Given the description of an element on the screen output the (x, y) to click on. 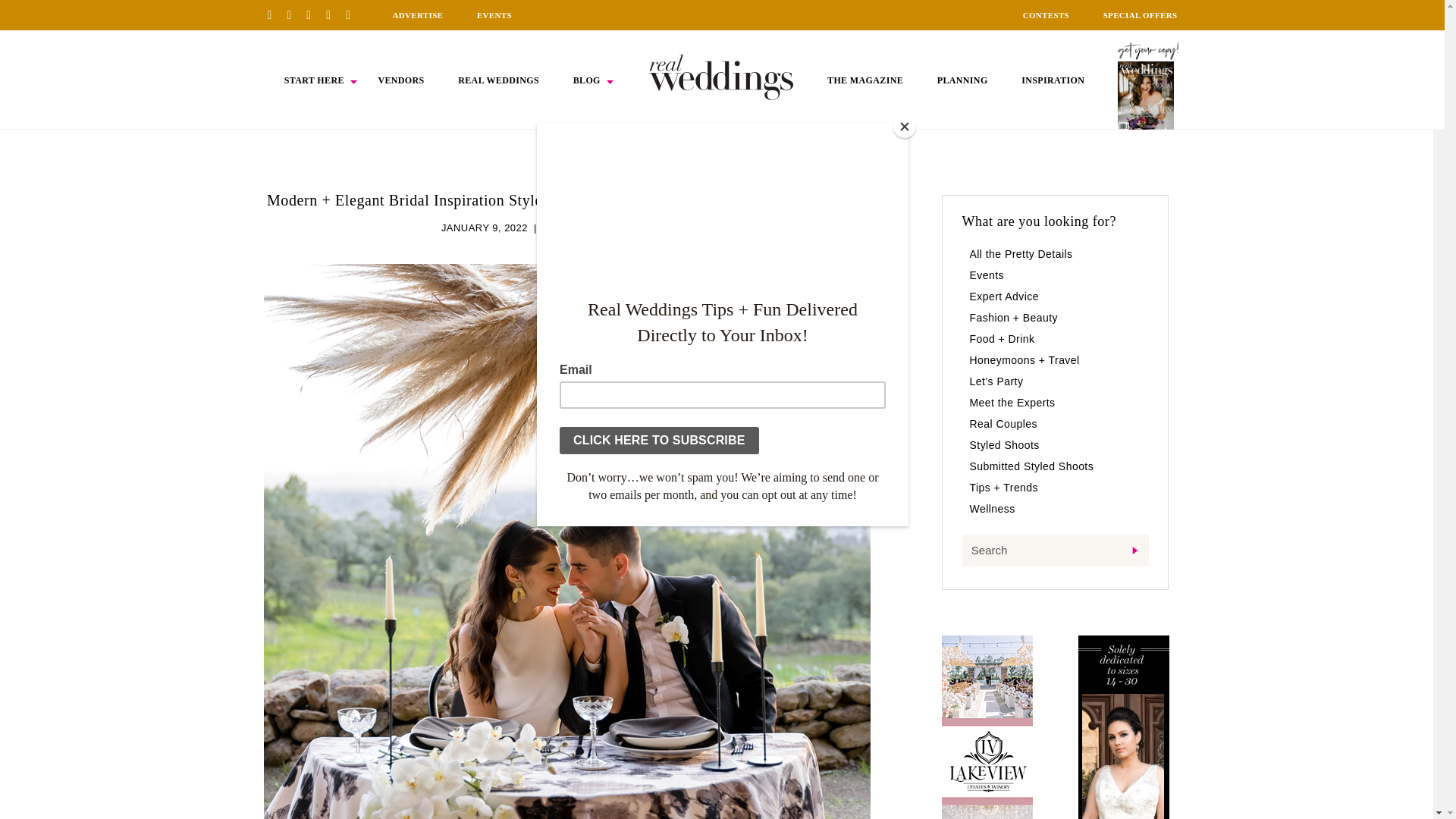
PLANNING (962, 80)
VENDORS (400, 80)
Pinterest (274, 14)
REAL WEDDINGS (498, 80)
Search (1054, 550)
YouTube (353, 14)
EVENTS (494, 14)
BLOG (586, 80)
Twitter (334, 14)
Facebook (294, 14)
CONTESTS (1045, 14)
SPECIAL OFFERS (1140, 14)
THE MAGAZINE (864, 80)
Instagram (313, 14)
INSPIRATION (1053, 80)
